Given the description of an element on the screen output the (x, y) to click on. 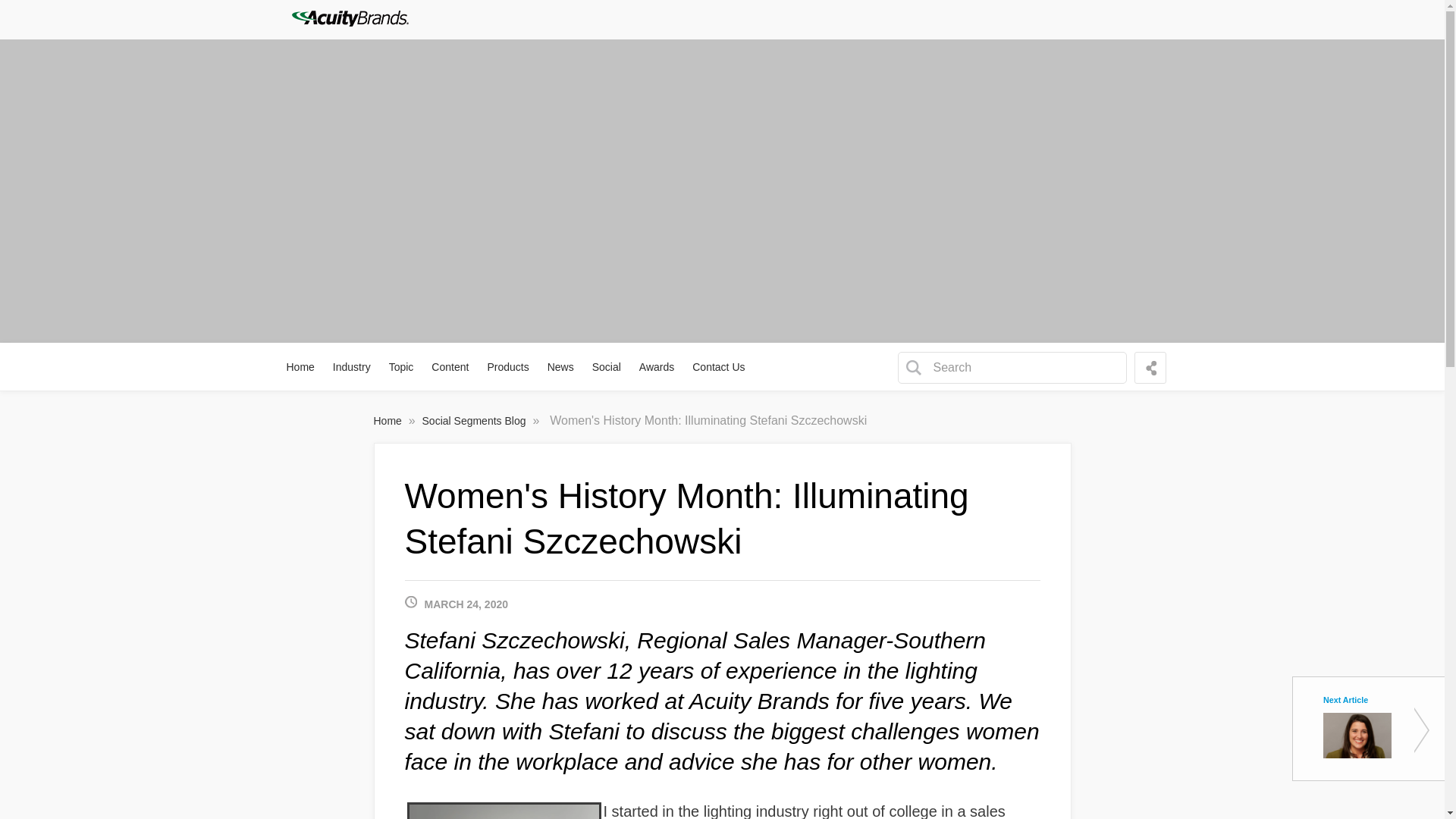
Industry (351, 366)
Home (301, 366)
Topic (401, 366)
